Given the description of an element on the screen output the (x, y) to click on. 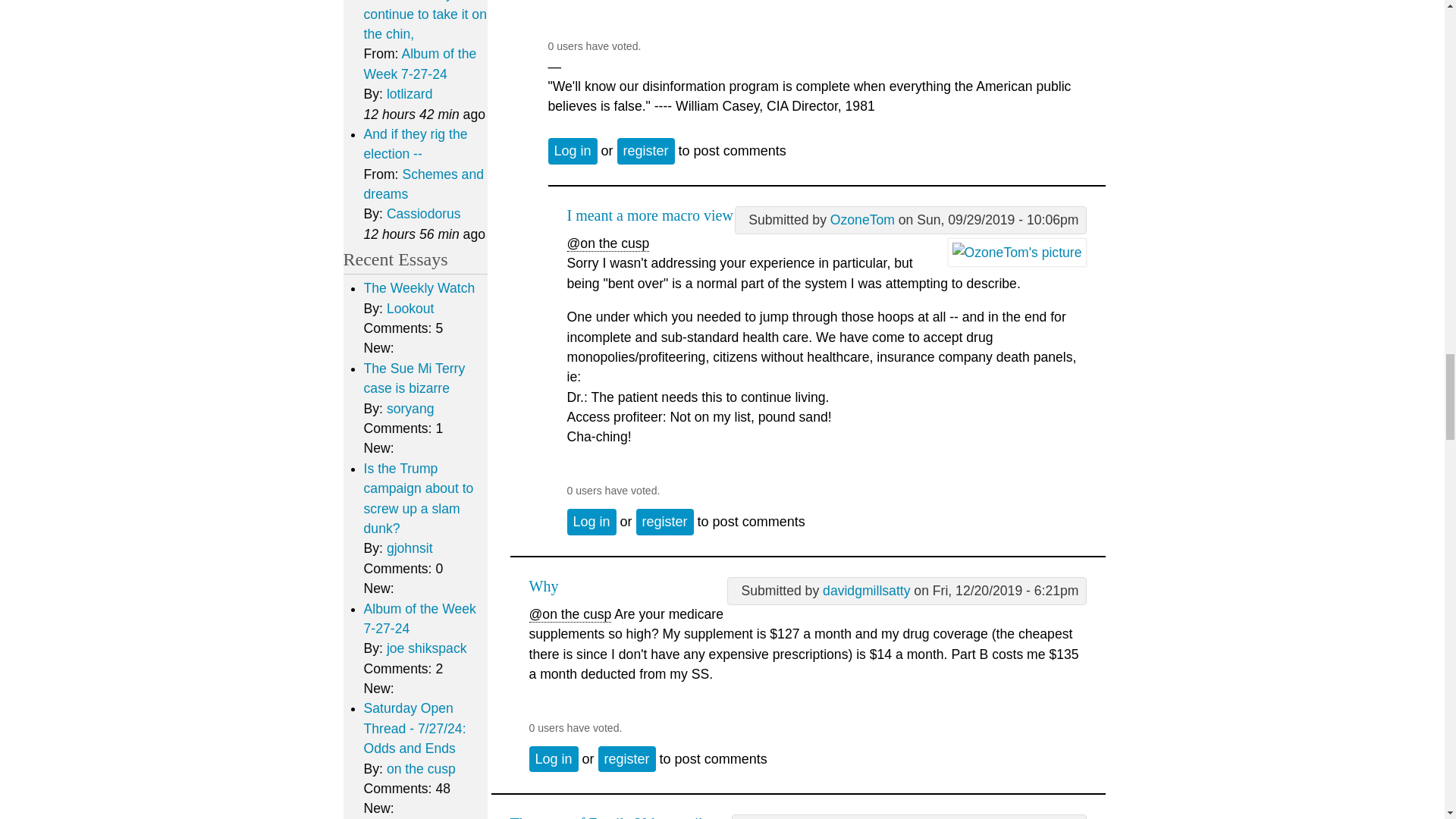
OzoneTom's picture (1016, 252)
View user profile. (1016, 252)
View user profile. (862, 219)
